Given the description of an element on the screen output the (x, y) to click on. 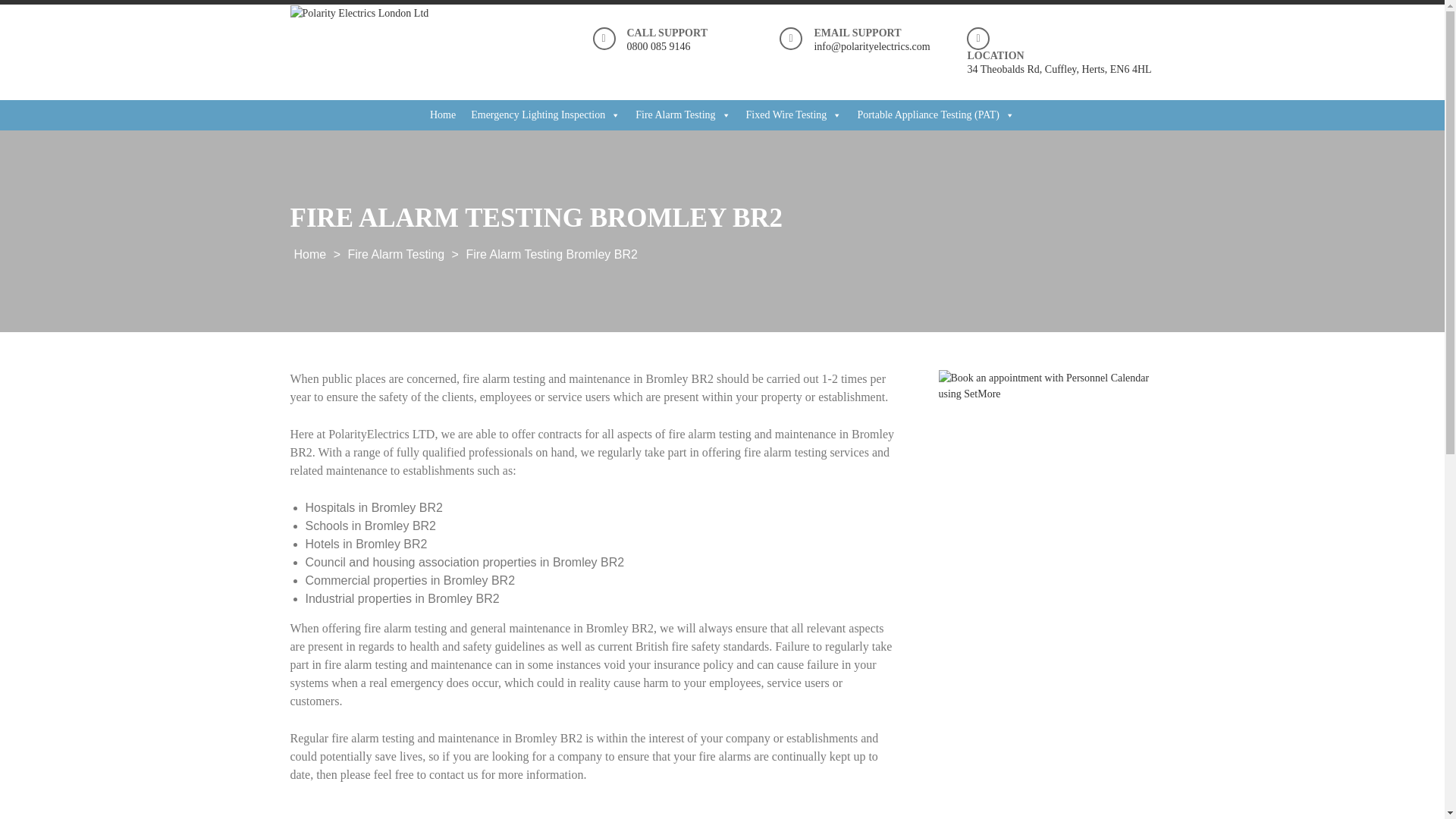
Emergency Lighting Inspection (545, 114)
Home (442, 114)
